Given the description of an element on the screen output the (x, y) to click on. 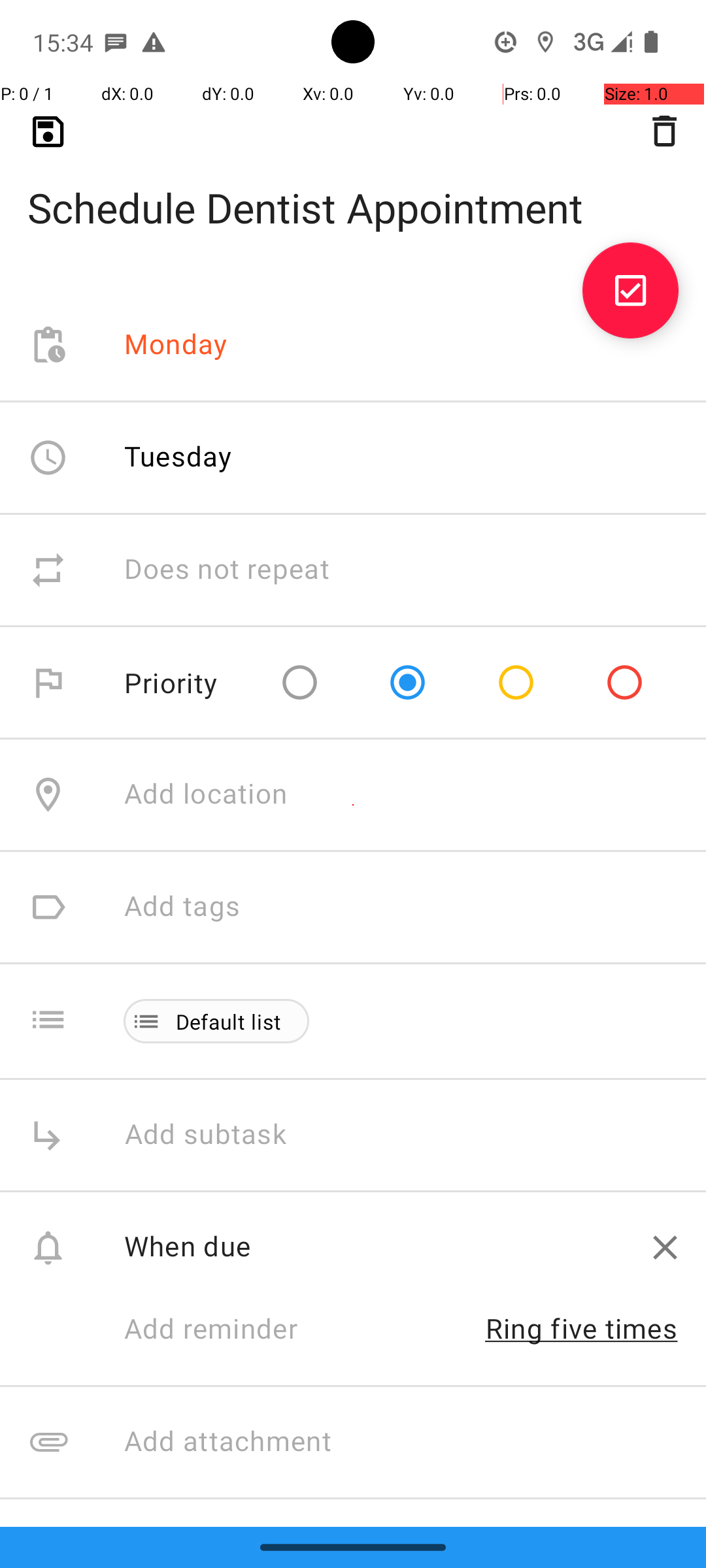
Teeth cleaning overdue. Call Dr. Smith's office. Element type: android.widget.EditText (400, 1522)
Ring five times Element type: android.widget.TextView (581, 1328)
When due Element type: android.widget.TextView (373, 1245)
